Given the description of an element on the screen output the (x, y) to click on. 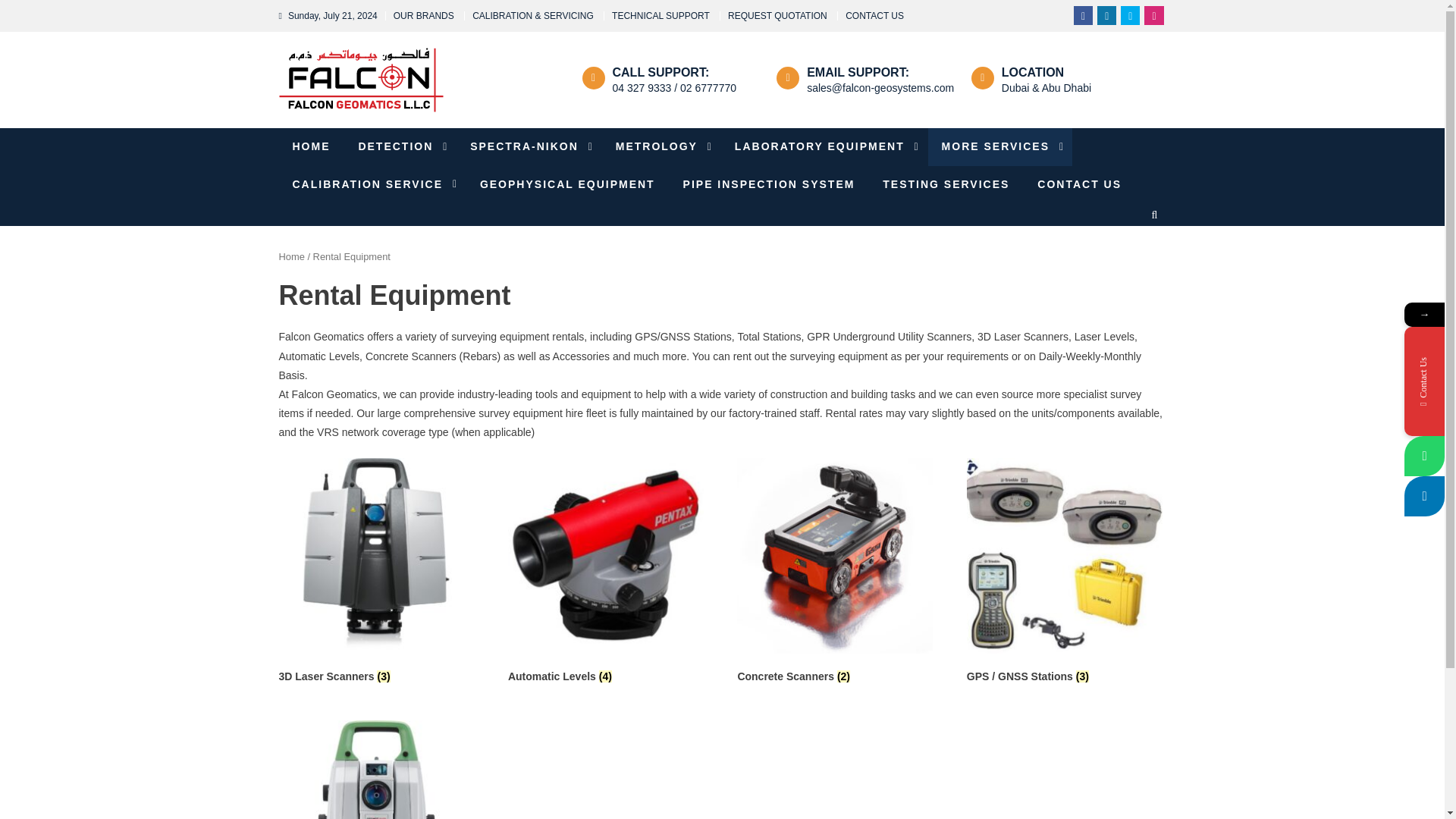
OUR BRANDS (423, 15)
HOME (311, 146)
TECHNICAL SUPPORT (660, 15)
REQUEST QUOTATION (777, 15)
SPECTRA-NIKON (529, 146)
CONTACT US (874, 15)
Technical Support (660, 15)
DETECTION (399, 146)
